Given the description of an element on the screen output the (x, y) to click on. 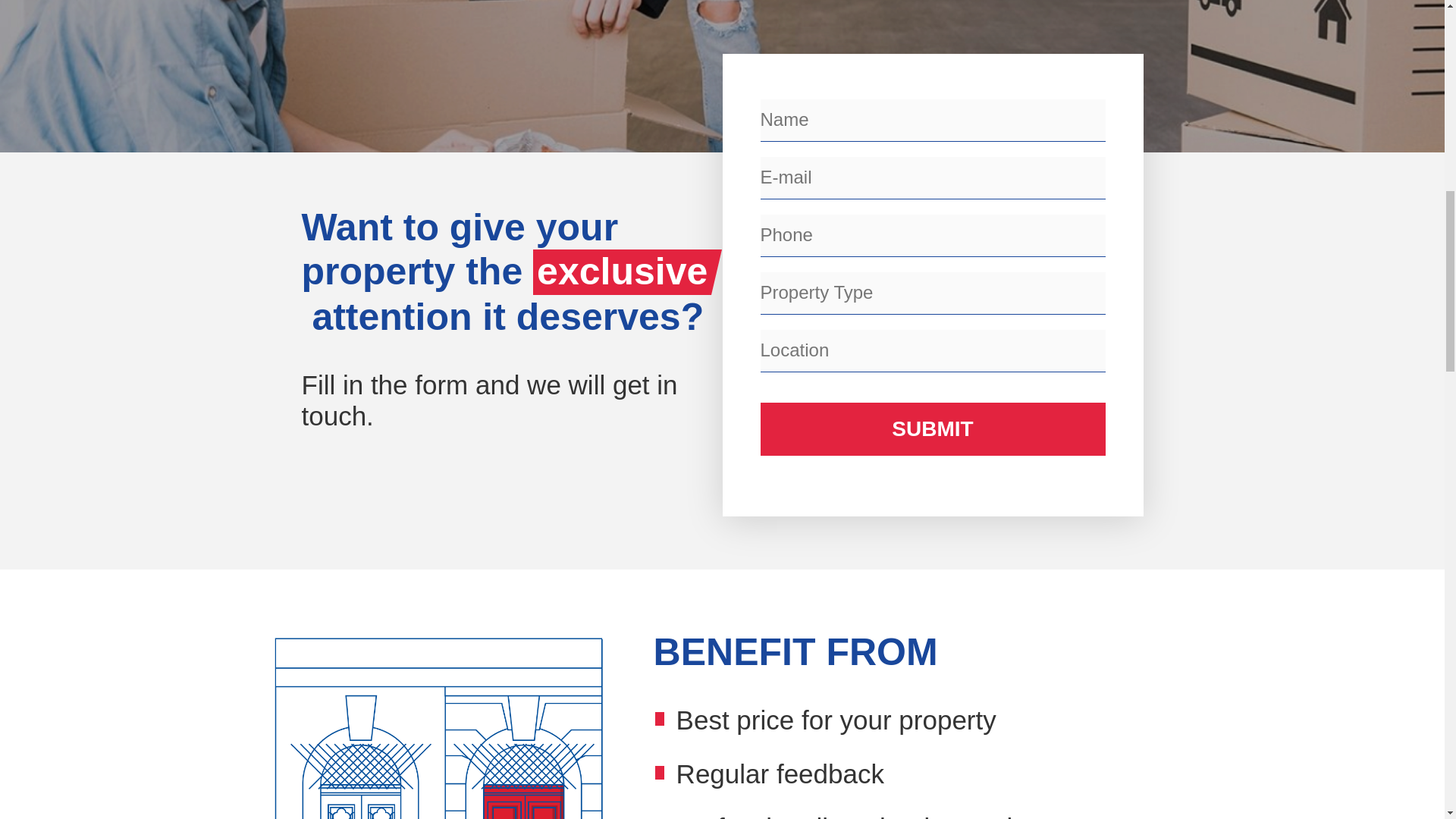
Submit (932, 428)
Submit (932, 428)
